Given the description of an element on the screen output the (x, y) to click on. 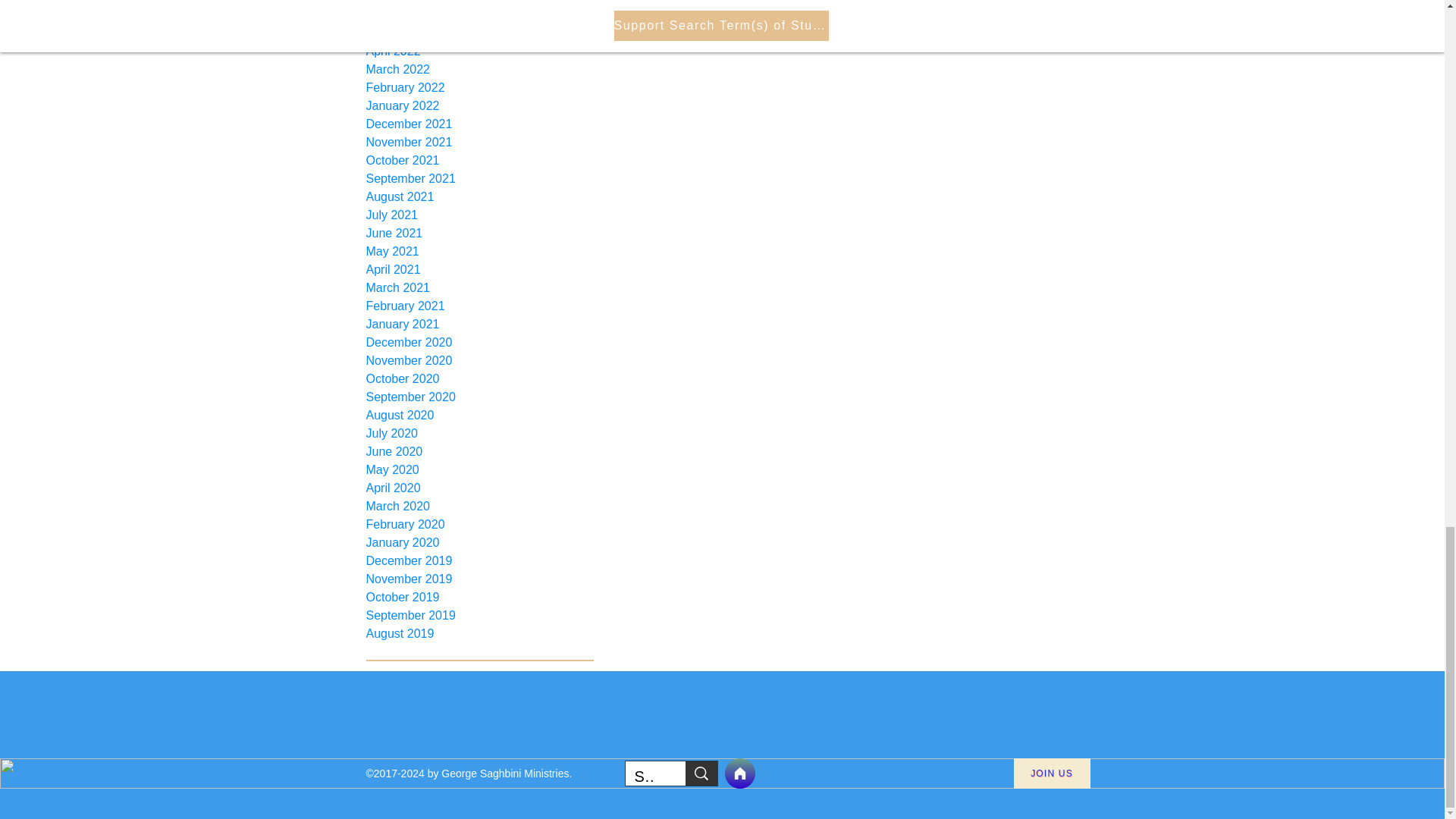
March 2021 (478, 288)
February 2021 (478, 306)
March 2022 (478, 69)
June 2022 (478, 14)
September 2021 (478, 178)
January 2021 (478, 324)
November 2021 (478, 142)
January 2022 (478, 106)
May 2022 (478, 33)
August 2021 (478, 197)
